Given the description of an element on the screen output the (x, y) to click on. 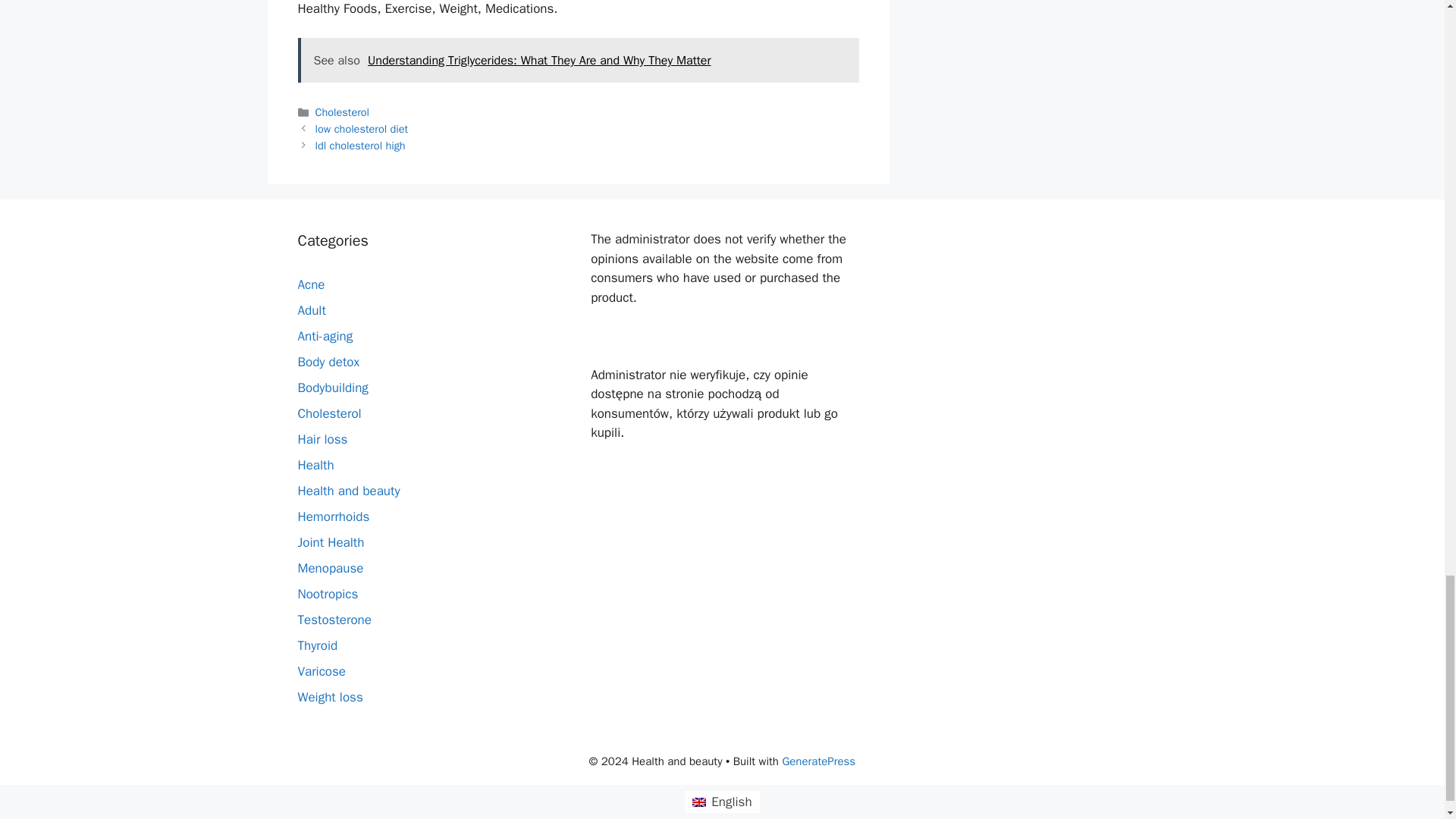
Bodybuilding (332, 387)
Adult (310, 310)
Anti-aging (324, 335)
low cholesterol diet (362, 128)
Acne (310, 284)
Health (315, 465)
Cholesterol (329, 413)
Cholesterol (342, 111)
ldl cholesterol high (360, 145)
Hair loss (322, 439)
Body detox (327, 361)
